Given the description of an element on the screen output the (x, y) to click on. 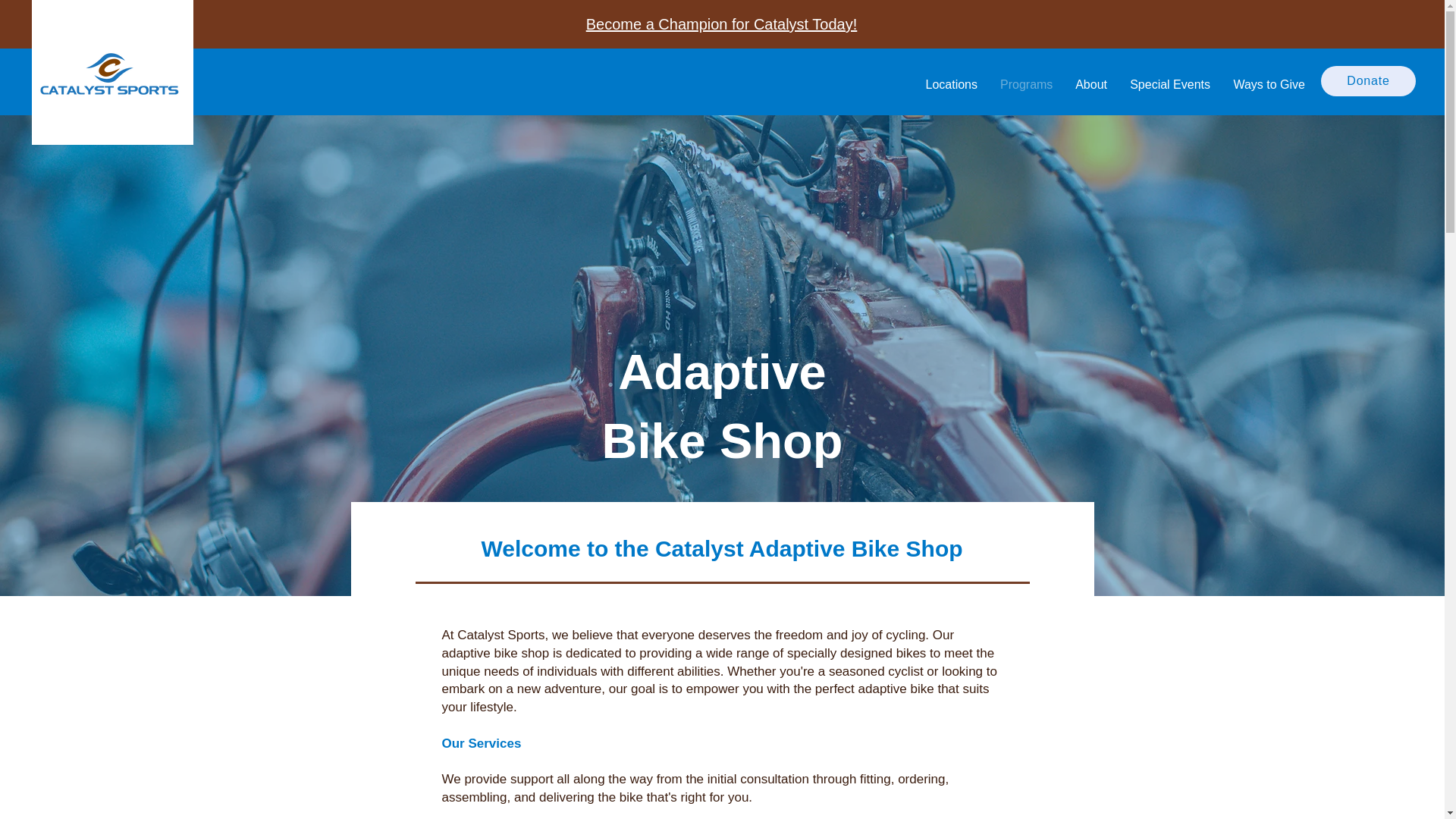
Special Events (1169, 85)
About (1091, 85)
Programs (1026, 85)
Locations (951, 85)
